Given the description of an element on the screen output the (x, y) to click on. 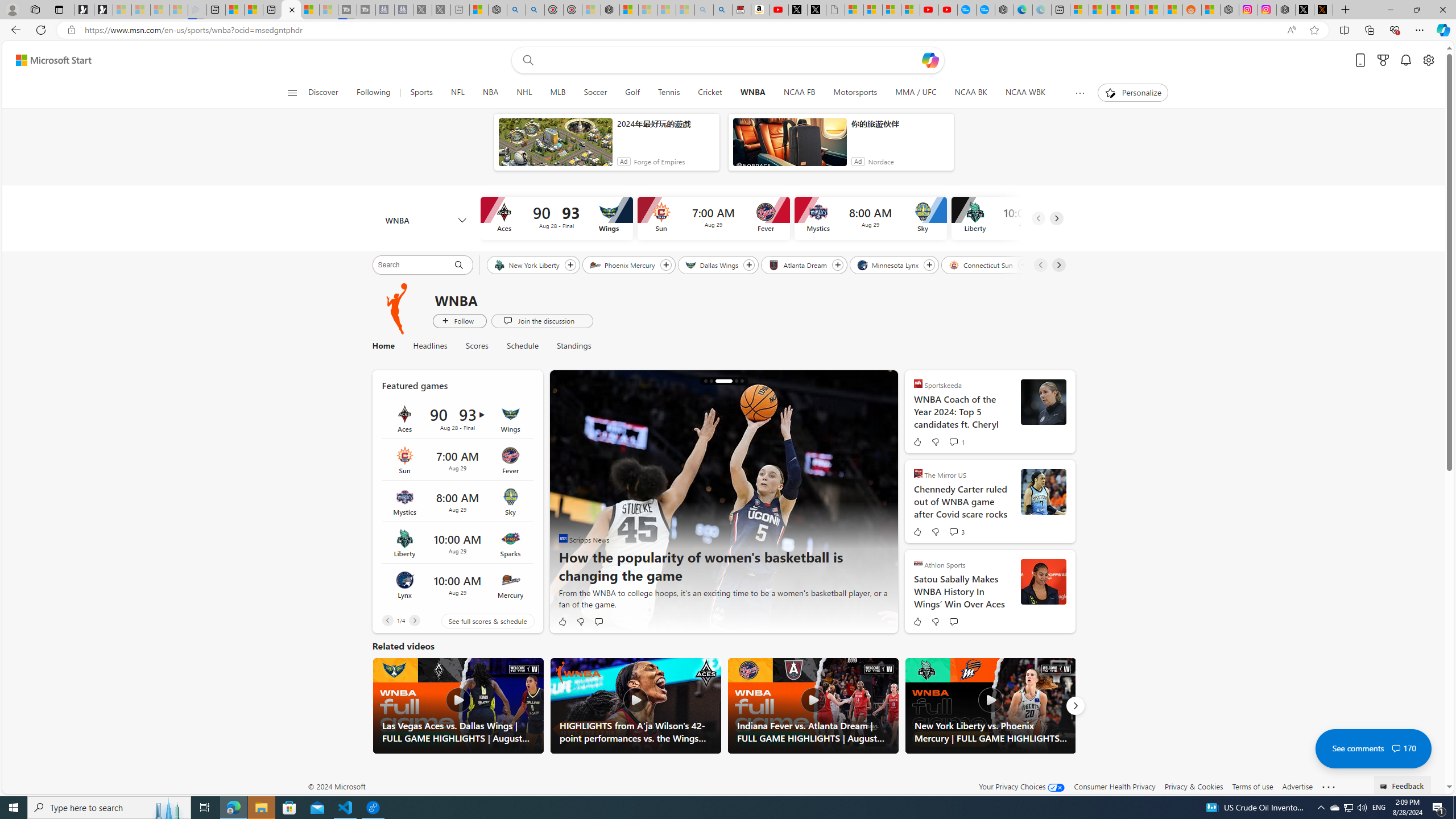
Dallas Wings (712, 264)
Skip to footer (46, 59)
Follow Minnesota Lynx (929, 265)
See full scores & schedule (478, 620)
Enter your search term (730, 59)
Soccer (595, 92)
Follow Atlanta Dream (837, 265)
NBA (490, 92)
NHL (523, 92)
